Given the description of an element on the screen output the (x, y) to click on. 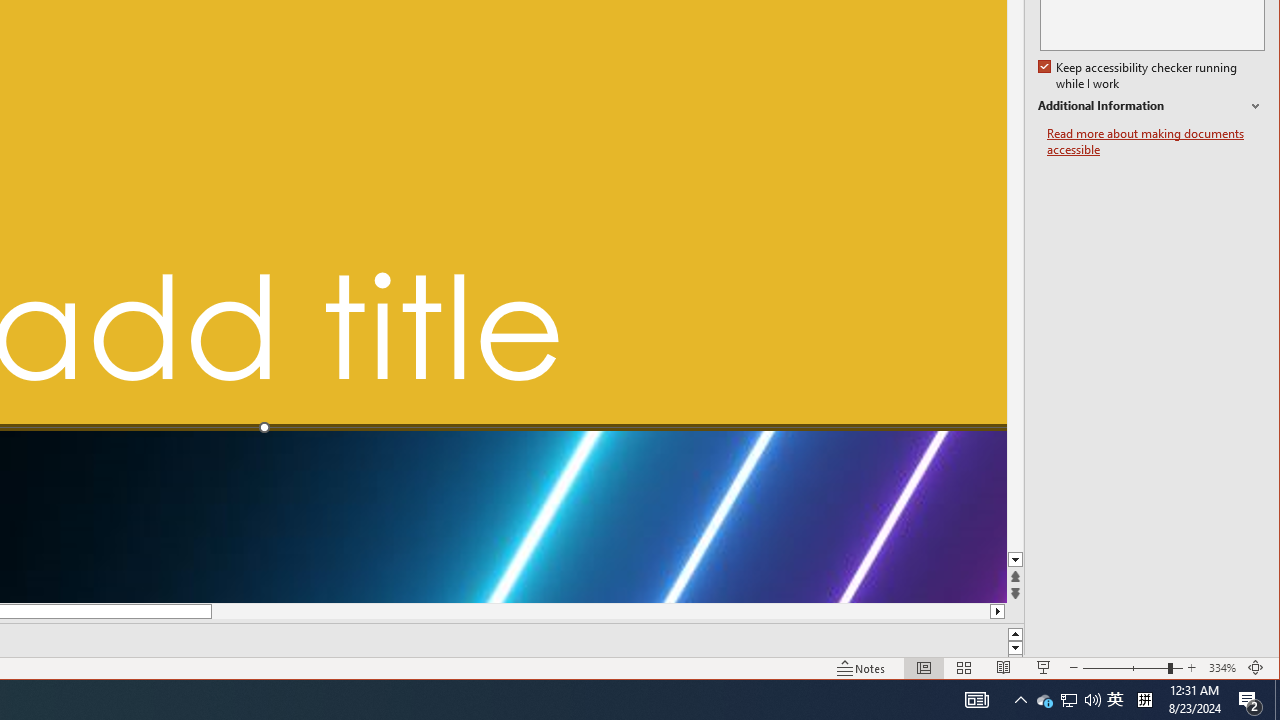
Zoom 334% (1222, 668)
